Given the description of an element on the screen output the (x, y) to click on. 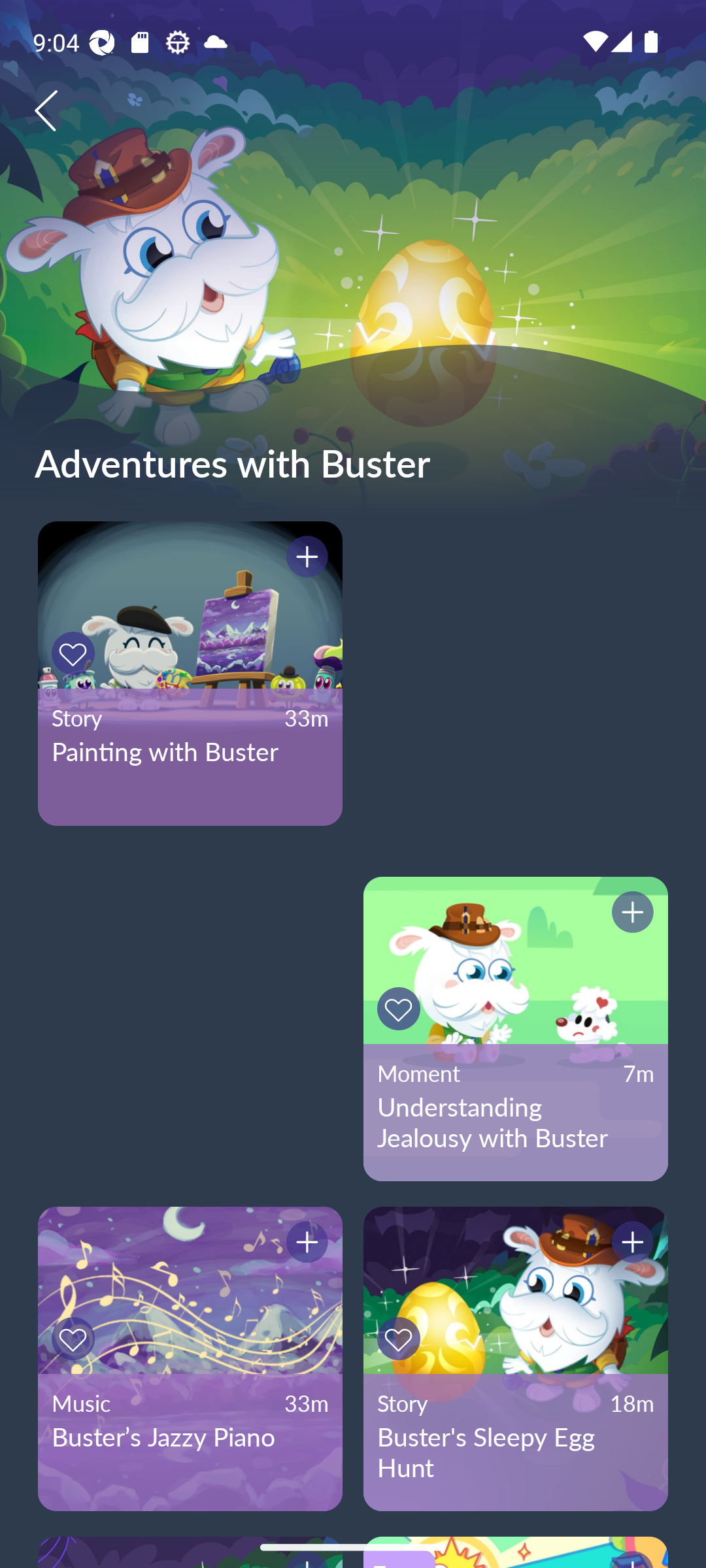
Button (304, 558)
Button (76, 652)
Button (629, 914)
Button (401, 1008)
Button (304, 1244)
Button (629, 1244)
Button (76, 1338)
Button (401, 1338)
